Given the description of an element on the screen output the (x, y) to click on. 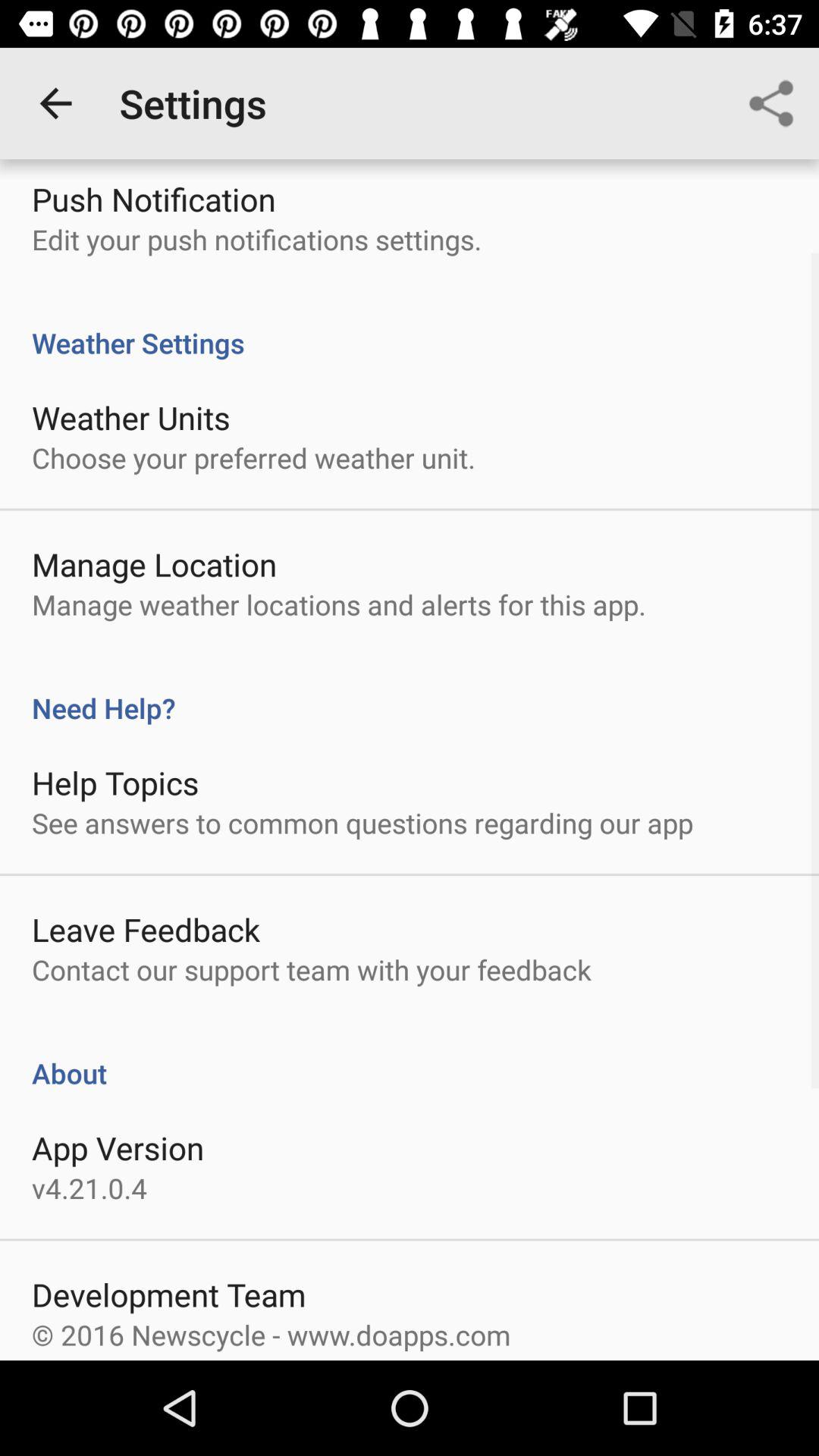
swipe to the help topics item (115, 782)
